Given the description of an element on the screen output the (x, y) to click on. 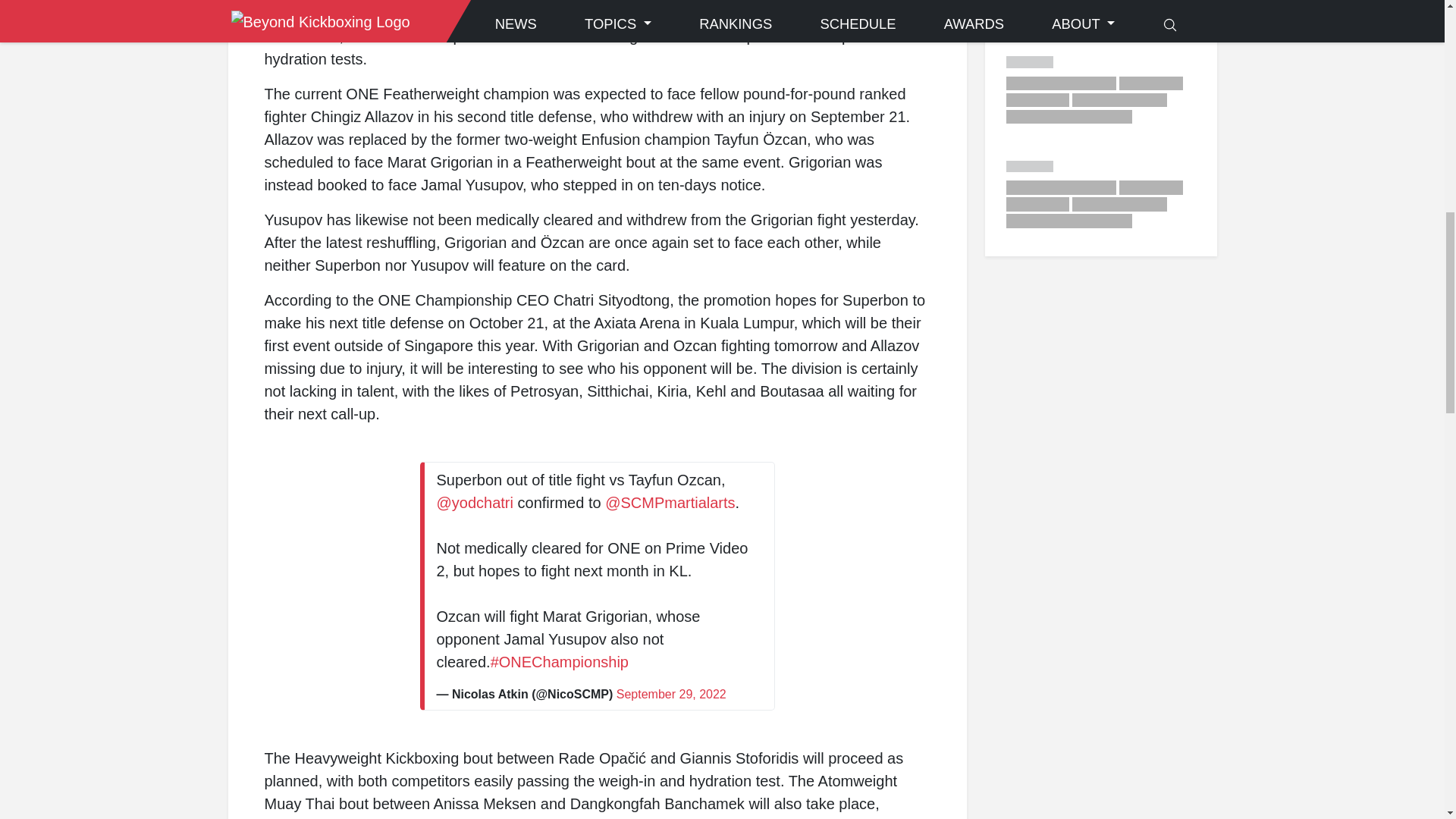
September 29, 2022 (670, 694)
